Given the description of an element on the screen output the (x, y) to click on. 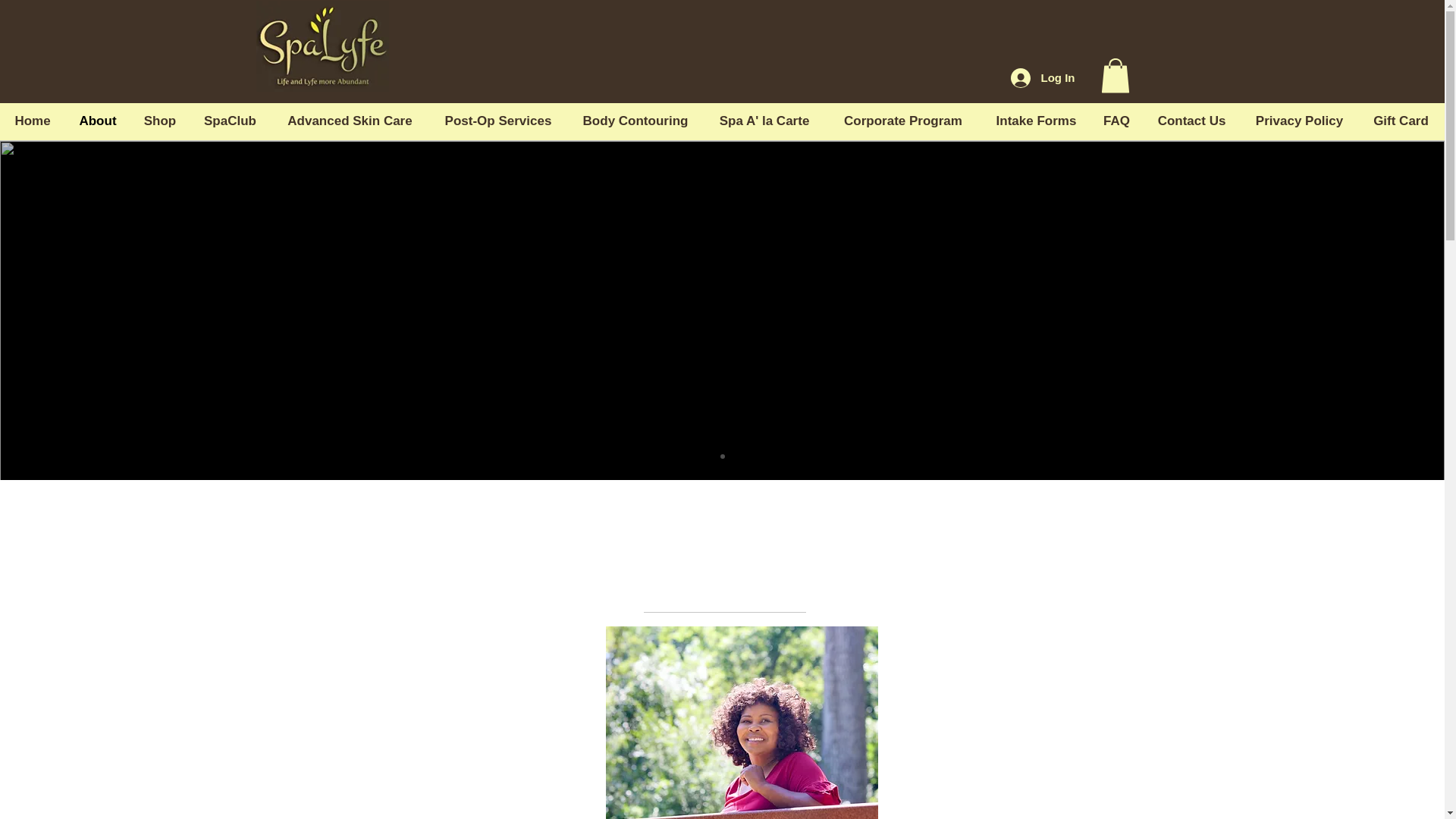
SpaClub (229, 120)
Contact Us (1191, 120)
Intake Forms (1035, 120)
Spa A' la Carte (764, 120)
Post-Op Services (498, 120)
Log In (1041, 77)
Home (32, 120)
About (98, 120)
FAQ (1115, 120)
Corporate Program (903, 120)
Privacy Policy (1298, 120)
Shop (160, 120)
Advanced Skin Care (349, 120)
Body Contouring (635, 120)
